Given the description of an element on the screen output the (x, y) to click on. 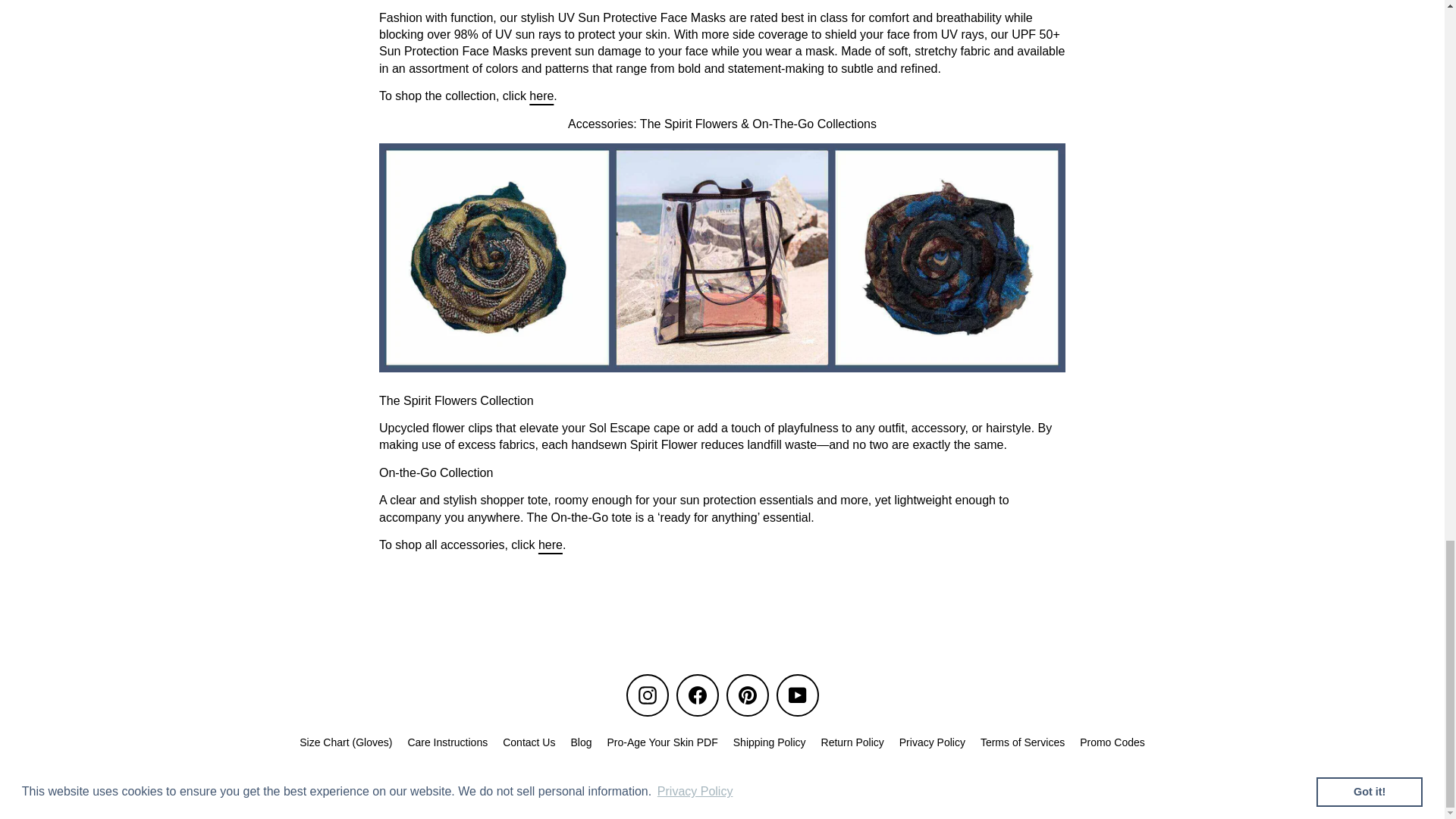
Shop Pay (809, 778)
Discover (669, 778)
Google Pay (704, 778)
Heliades Fashion Sun Protection Clothing on Pinterest (747, 695)
PayPal (774, 778)
Heliades Fashion Sun Protection Clothing on Facebook (698, 695)
Apple Pay (599, 778)
Visa (878, 778)
American Express (564, 778)
Venmo (844, 778)
Heliades Fashion Sun Protection Clothing on YouTube (797, 695)
Mastercard (739, 778)
Diners Club (634, 778)
Heliades Fashion Sun Protection Clothing on Instagram (647, 695)
